Given the description of an element on the screen output the (x, y) to click on. 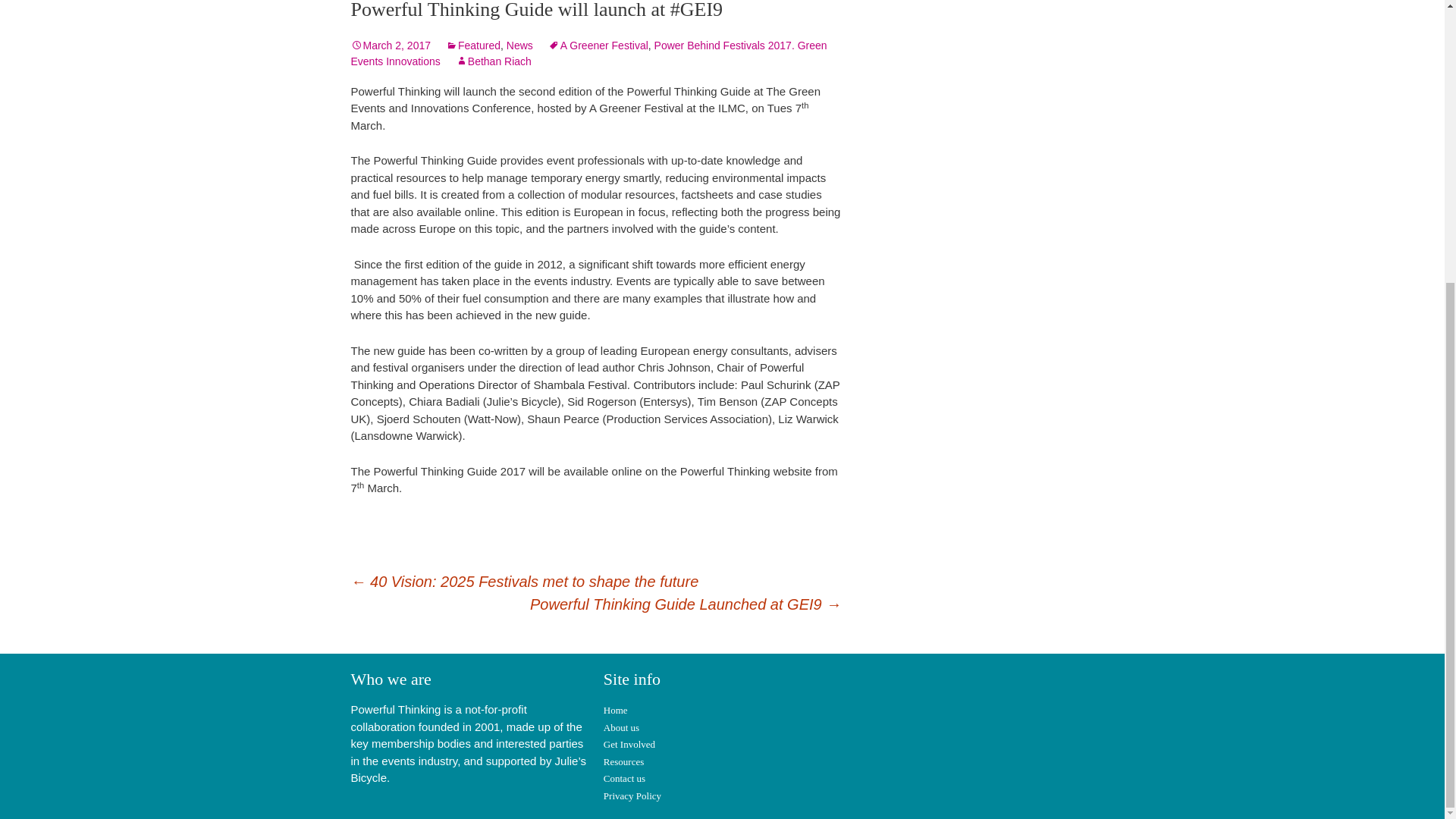
Bethan Riach (493, 61)
Contact us (624, 778)
Resources (623, 761)
Home (615, 709)
News (519, 45)
Featured (472, 45)
Power Behind Festivals 2017. Green Events Innovations (588, 53)
View all posts by Bethan Riach (493, 61)
Get Involved (629, 744)
Privacy Policy (632, 795)
